Given the description of an element on the screen output the (x, y) to click on. 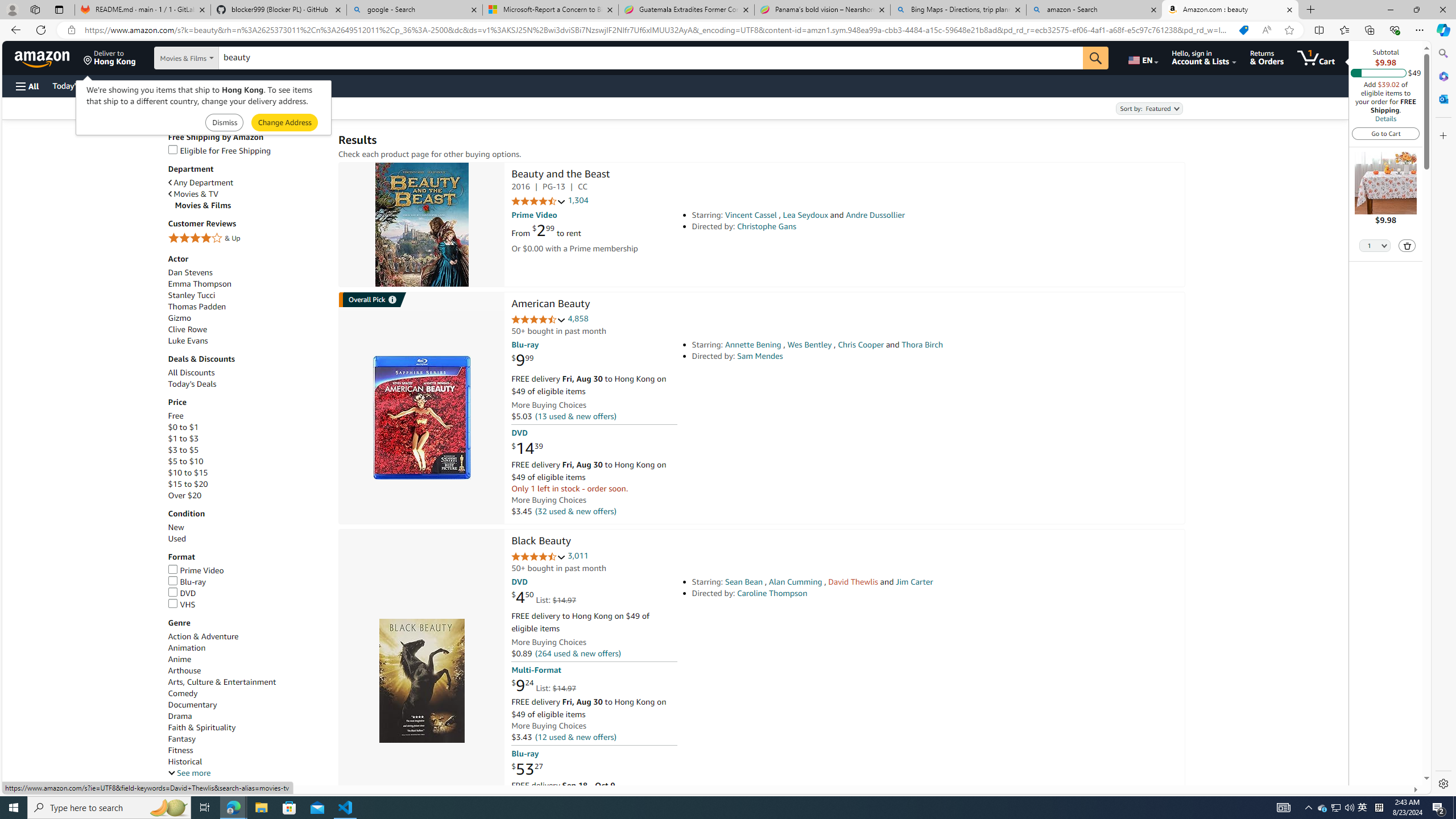
Christophe Gans (766, 226)
Clive Rowe (187, 329)
Over $20 (184, 495)
Movies & TV (192, 194)
Comedy (182, 692)
(12 used & new offers) (574, 736)
Drama (247, 716)
Documentary (191, 704)
Sell (290, 85)
Submit (284, 122)
Faith & Spirituality (247, 727)
Luke Evans (247, 340)
Open Menu (26, 86)
